Given the description of an element on the screen output the (x, y) to click on. 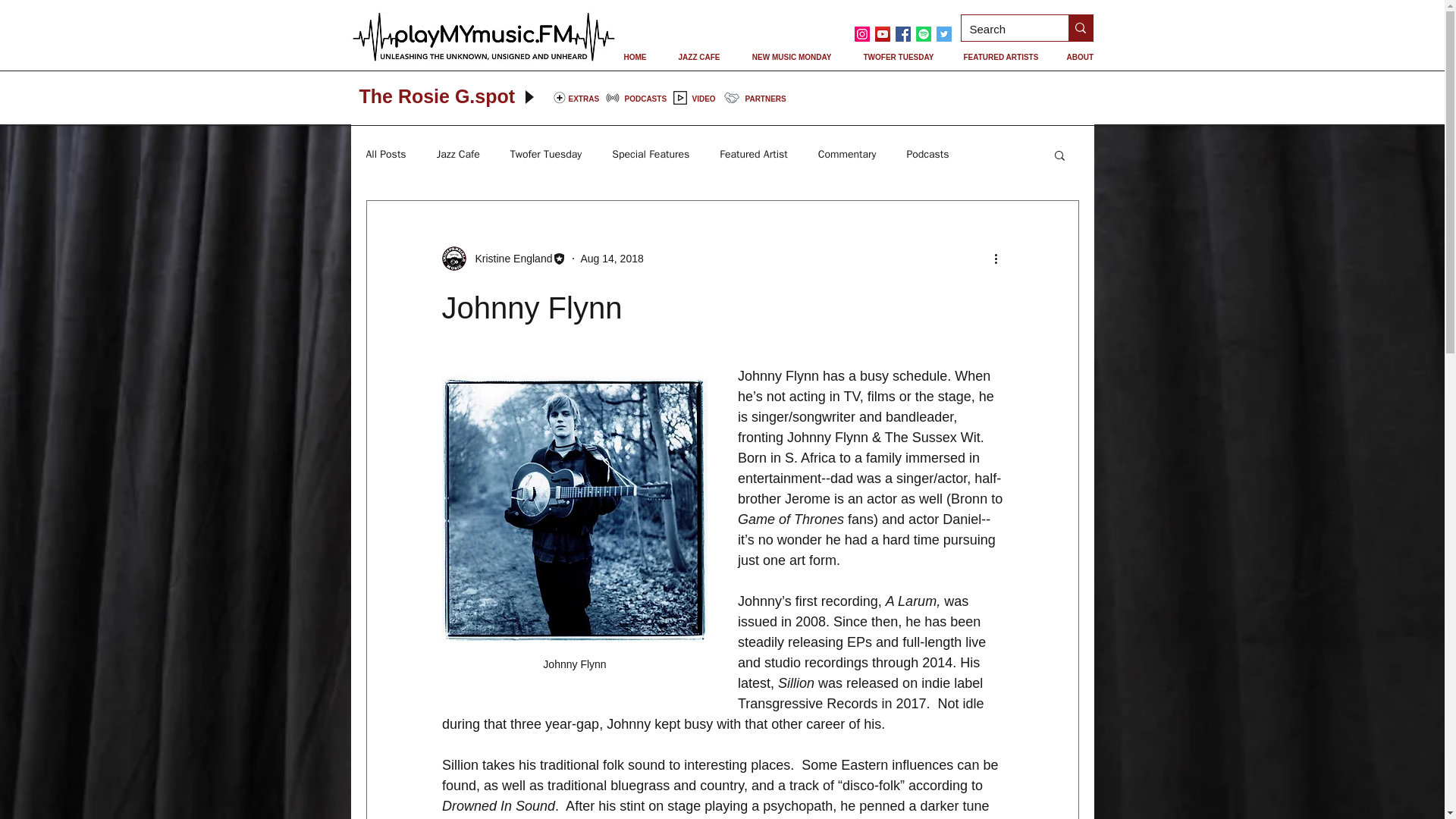
NEW MUSIC MONDAY (790, 57)
ABOUT (1079, 57)
Twofer Tuesday (546, 154)
EXTRAS (584, 99)
partners 50px.png (730, 97)
Featured Artist (753, 154)
PODCASTS (645, 99)
Special Features (649, 154)
HOME (635, 57)
Kristine England (508, 258)
